Given the description of an element on the screen output the (x, y) to click on. 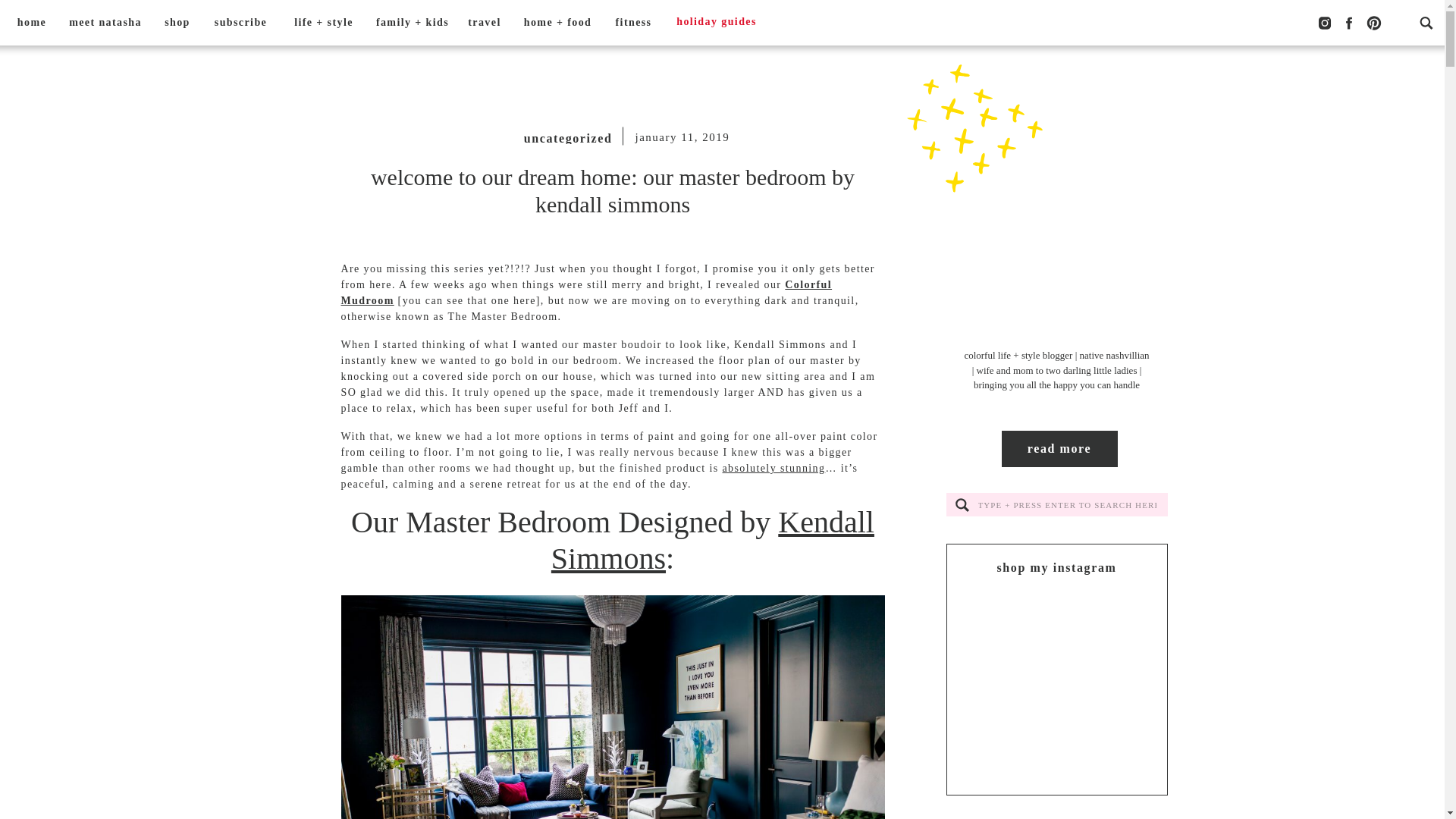
fitness (633, 22)
home (31, 22)
meet natasha (105, 22)
travel (483, 22)
holiday guides (716, 22)
shop (176, 22)
subscribe (240, 22)
